Given the description of an element on the screen output the (x, y) to click on. 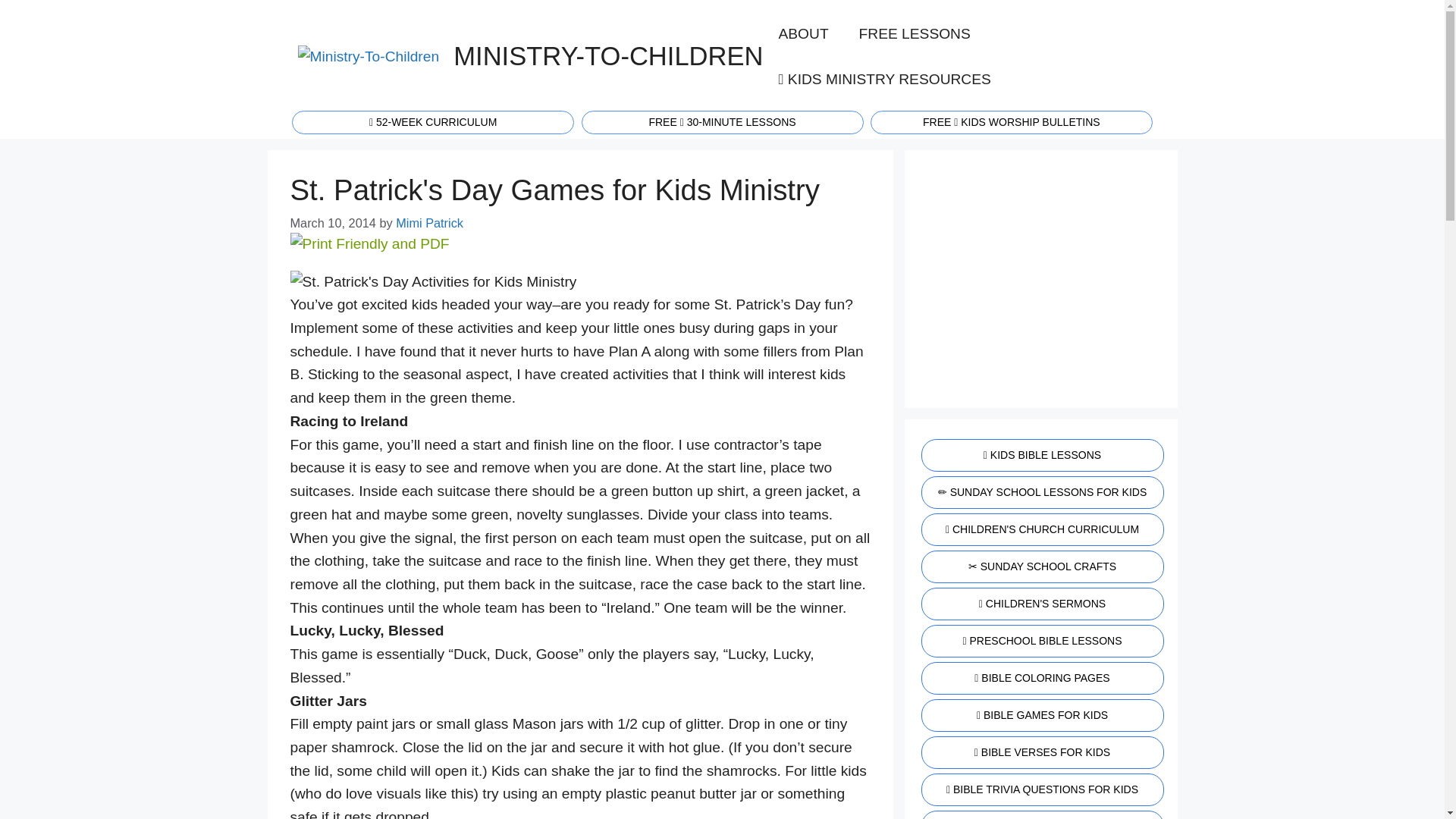
Printer Friendly and PDF (368, 243)
52-Week Curriculum (432, 120)
Free Sunday School Lessons PDF (721, 120)
ABOUT (802, 33)
Craft Ideas for Sunday School (1039, 566)
Church Curriculum for Children's Ministry (1039, 529)
Free Kids Bible Study Resources (1039, 454)
Children's Ministry Curriculum Lesson (1011, 120)
Mimi Patrick (429, 223)
Sunday School Curriculum for Children Ages 6-12 (1039, 491)
